Given the description of an element on the screen output the (x, y) to click on. 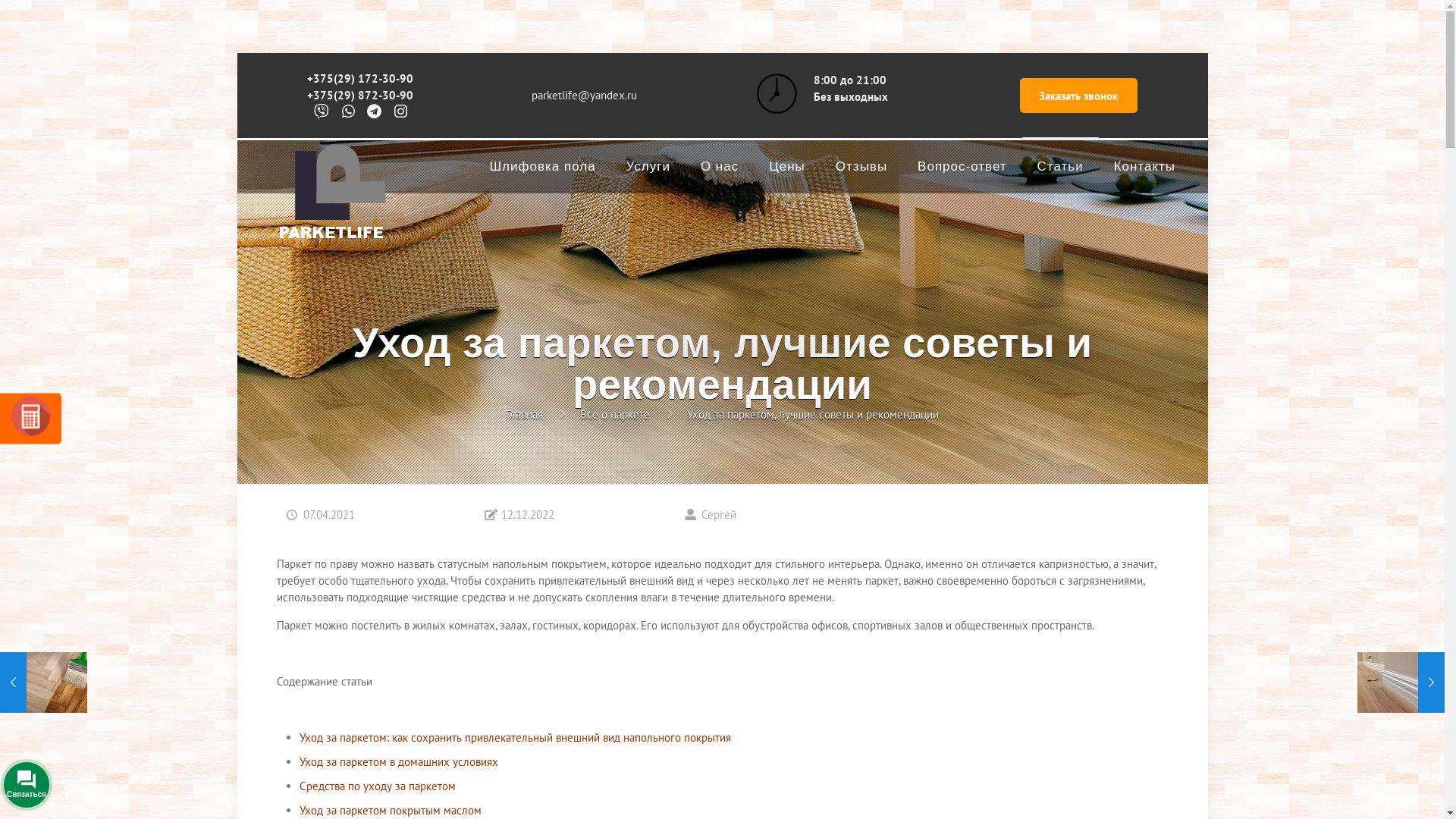
+375(29) 872-30-90 Element type: text (360, 94)
ParketLife Element type: hover (330, 200)
Telegram Element type: text (140, 781)
parketlife@yandex.ru Element type: text (584, 94)
+375(29) 172-30-90 Element type: text (360, 78)
